Given the description of an element on the screen output the (x, y) to click on. 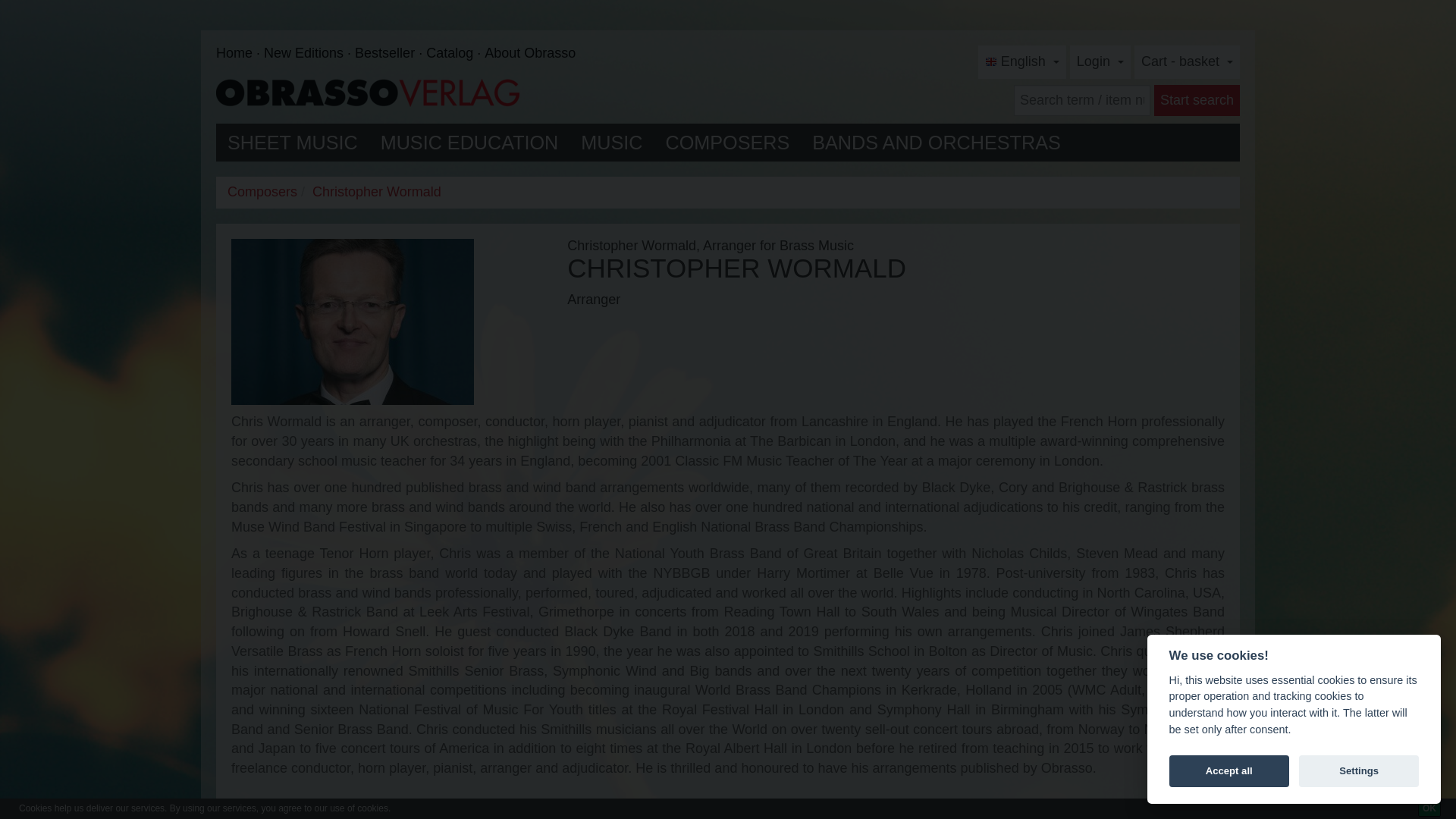
Bestseller (390, 52)
Catalog (455, 52)
Christopher Wormald - composer and arranger (352, 321)
About Obrasso (529, 52)
English (1021, 61)
New Editions (309, 52)
Home (239, 52)
